Given the description of an element on the screen output the (x, y) to click on. 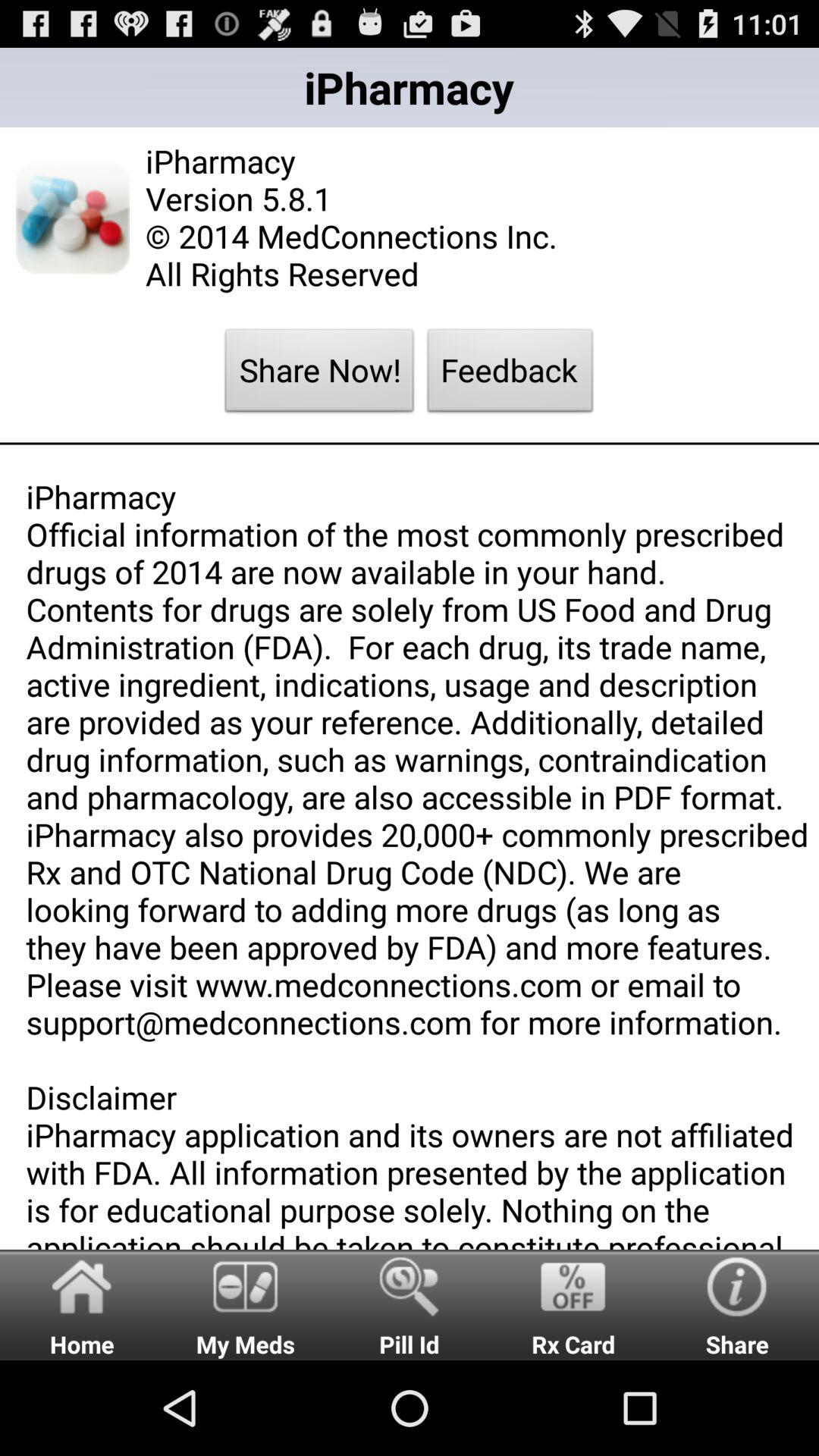
turn off the item next to the my meds item (409, 1304)
